Given the description of an element on the screen output the (x, y) to click on. 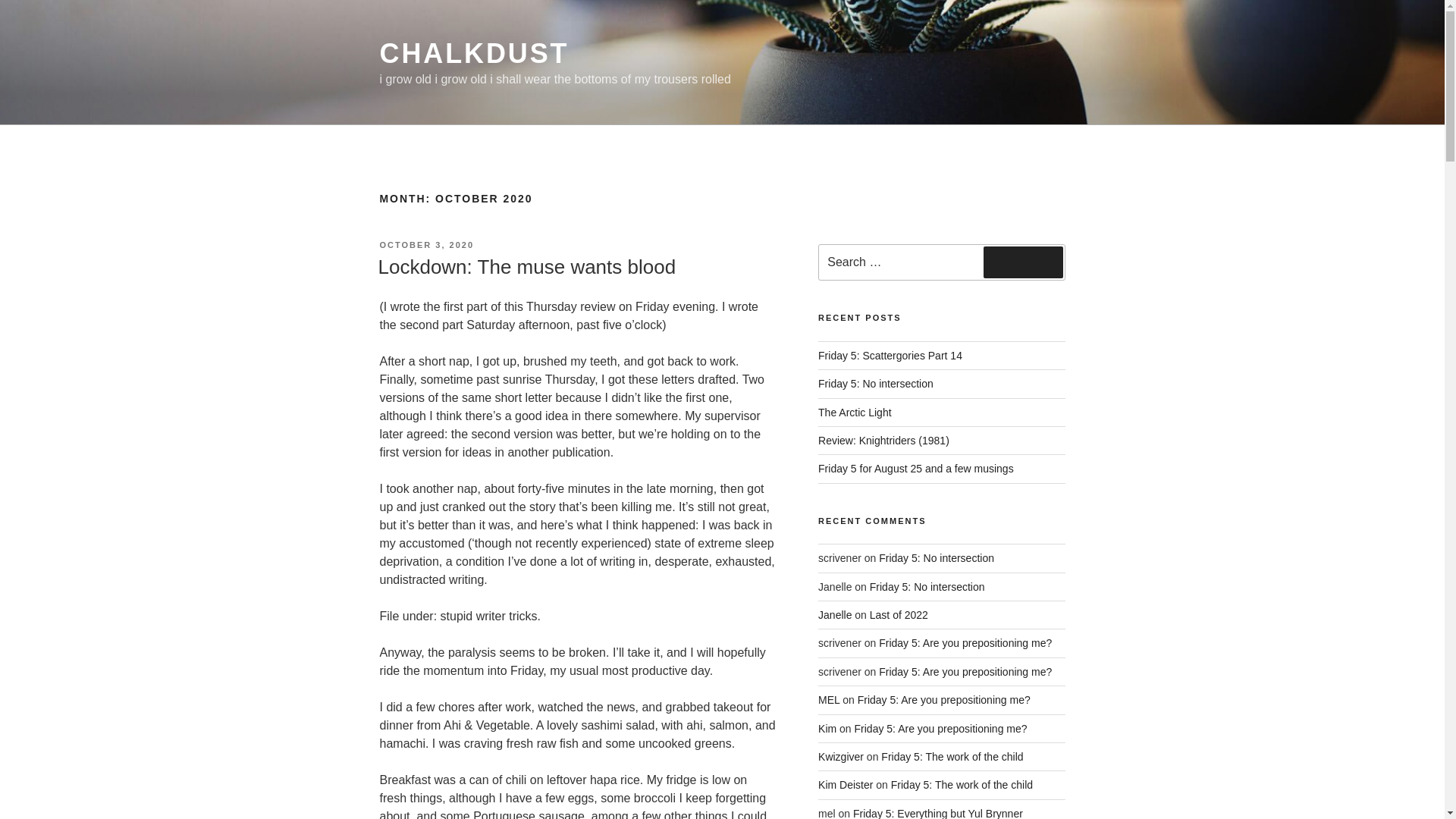
Kwizgiver (840, 756)
Janelle (834, 614)
Friday 5 for August 25 and a few musings (915, 468)
Friday 5: Everything but Yul Brynner (938, 813)
Friday 5: Are you prepositioning me? (965, 671)
Lockdown: The muse wants blood (526, 266)
Friday 5: No intersection (875, 383)
MEL (829, 699)
Friday 5: No intersection (927, 586)
Friday 5: The work of the child (961, 784)
